Given the description of an element on the screen output the (x, y) to click on. 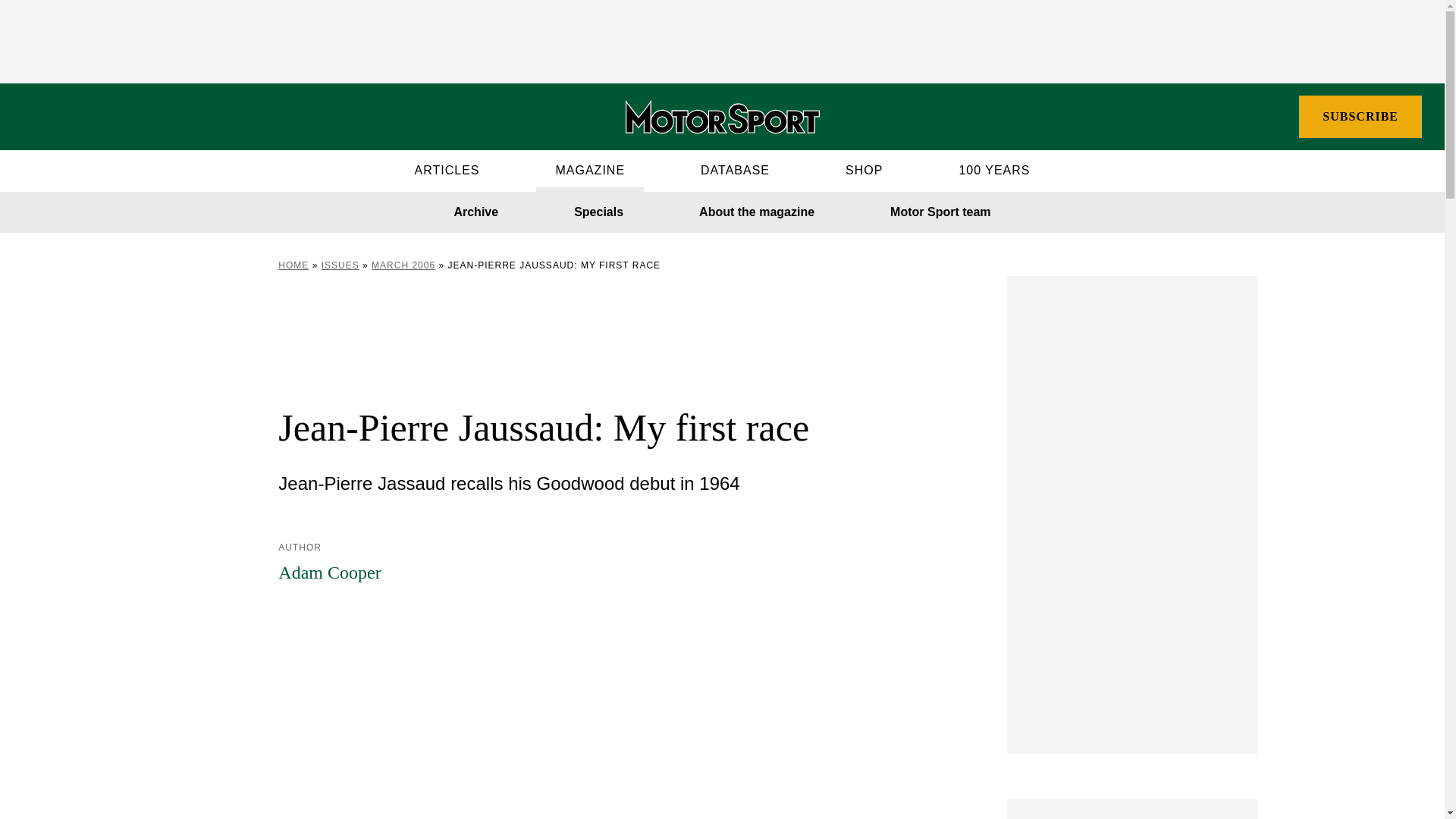
MAGAZINE (589, 169)
ARTICLES (447, 169)
SUBSCRIBE (1360, 116)
